Given the description of an element on the screen output the (x, y) to click on. 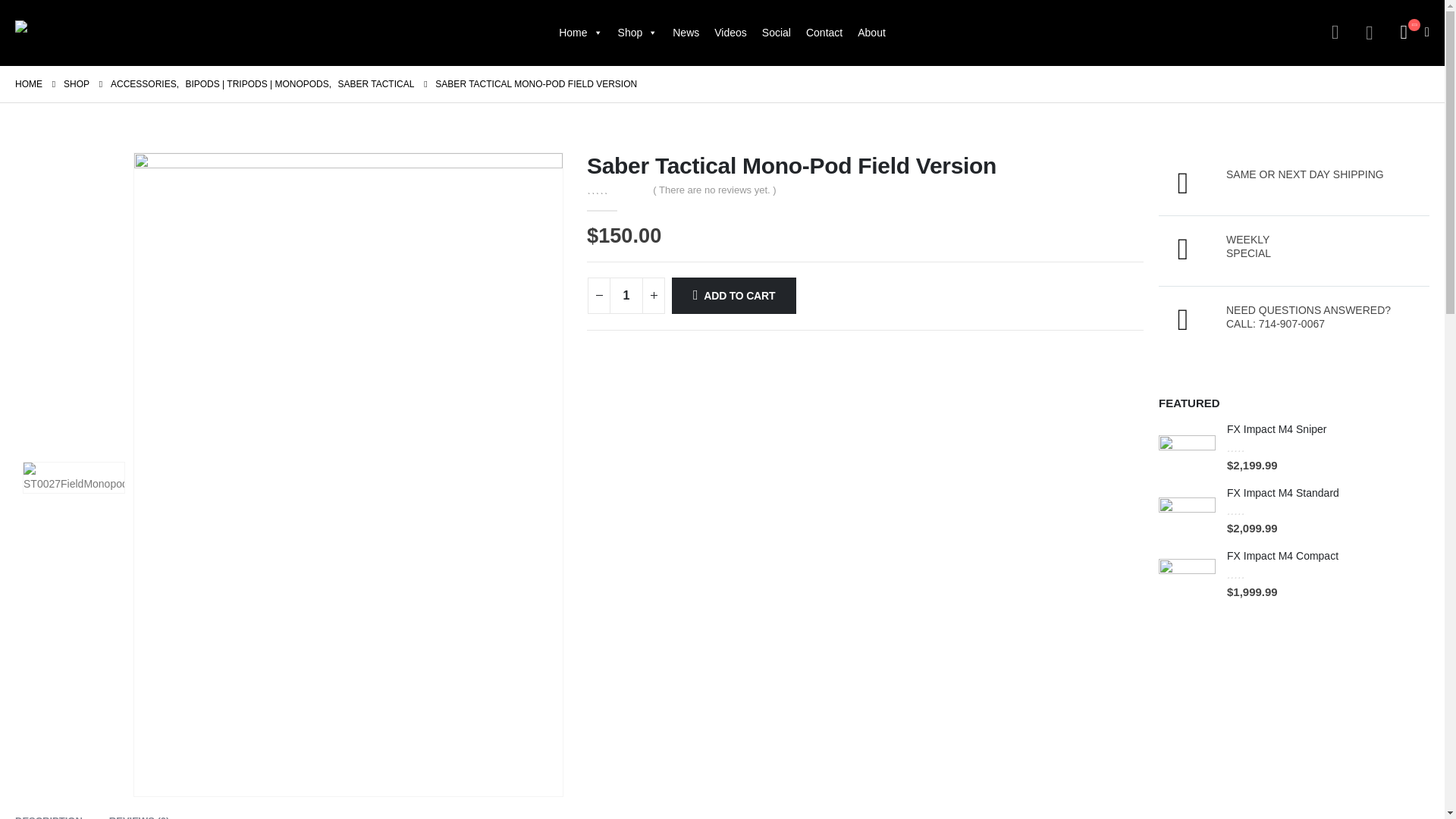
1 (626, 295)
0 (616, 189)
HOME (28, 84)
Go to Home Page (28, 84)
Contact (823, 32)
TopGun-Airguns - The Countries Top-Notch Airgun Shop (116, 32)
Social (775, 32)
My Account (1334, 32)
News (685, 32)
About (871, 32)
Videos (730, 32)
Shop (637, 32)
Home (580, 32)
